Given the description of an element on the screen output the (x, y) to click on. 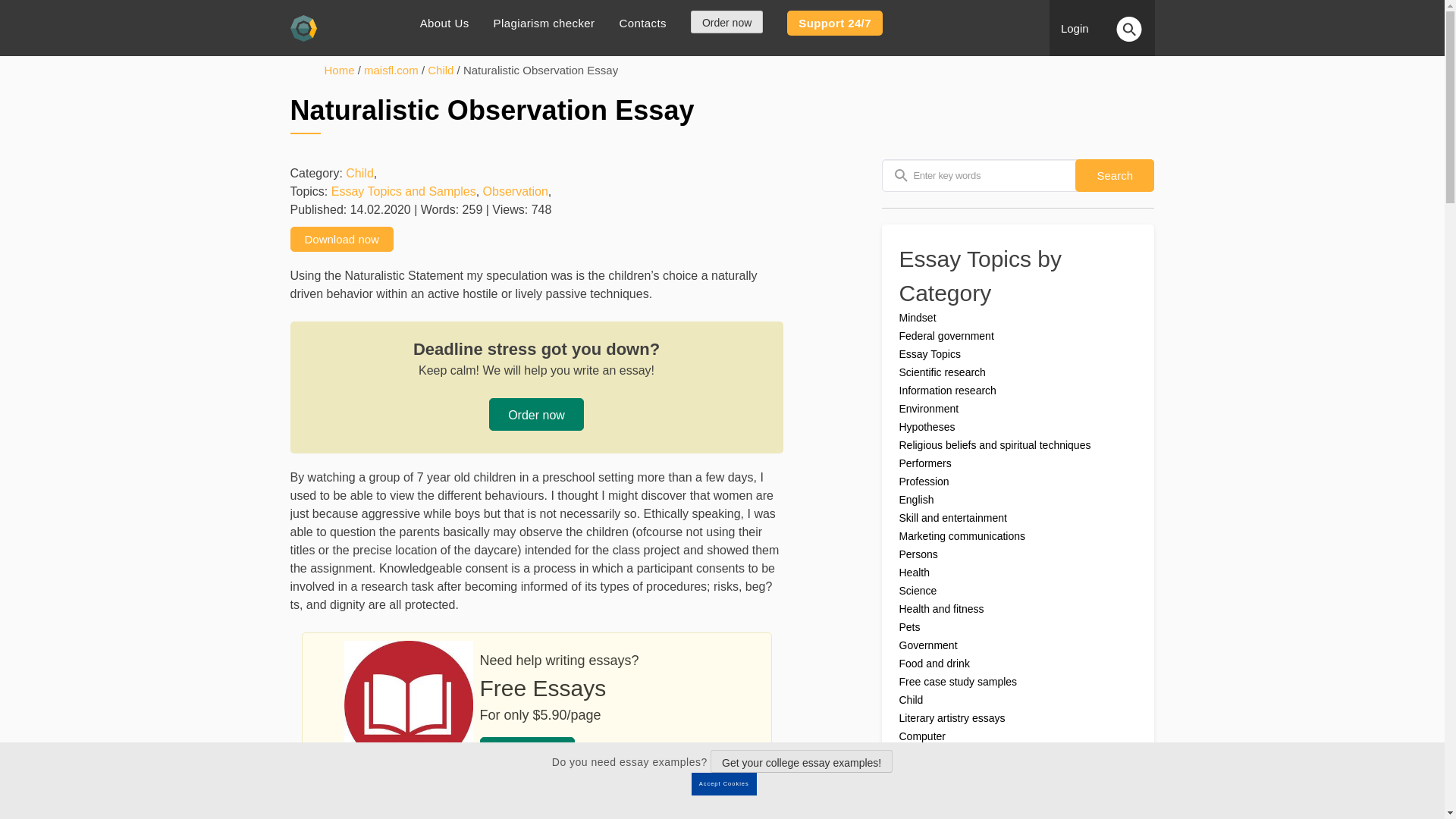
Home (339, 69)
Search (1114, 174)
Order Now (526, 753)
Login (1081, 28)
maisfl.com (391, 69)
Order now (536, 414)
Essay Topics and Samples (403, 191)
Order now (726, 21)
Contacts (643, 22)
Observation (515, 191)
About Us (444, 22)
Child (440, 69)
Child (359, 173)
Plagiarism checker (544, 22)
